Given the description of an element on the screen output the (x, y) to click on. 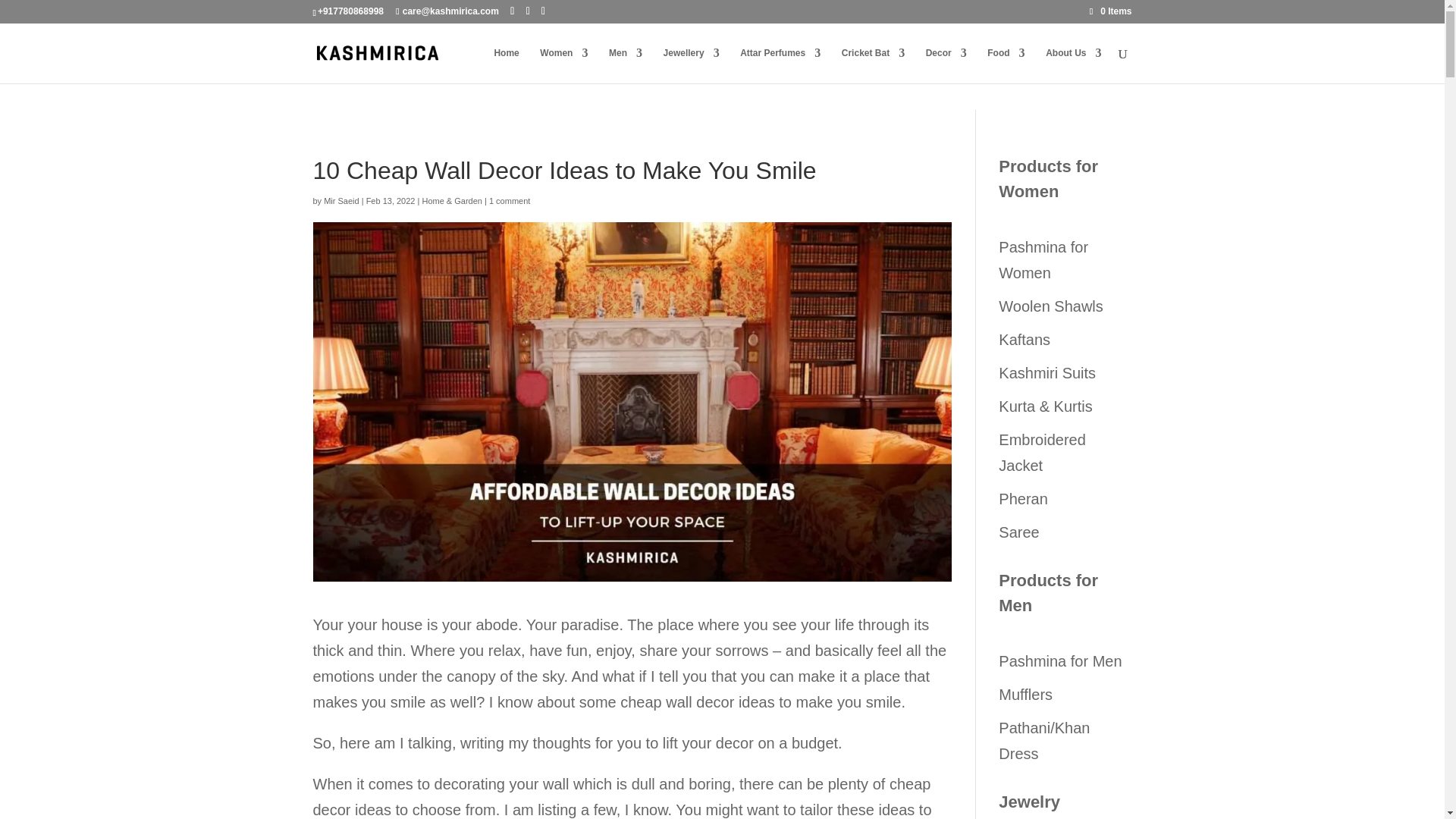
Food (1006, 65)
Jewellery (691, 65)
Men (625, 65)
Attar Perfumes (780, 65)
0 Items (1110, 10)
Cricket Bat (872, 65)
Posts by Mir Saeid (340, 200)
Decor (946, 65)
Women (564, 65)
